Given the description of an element on the screen output the (x, y) to click on. 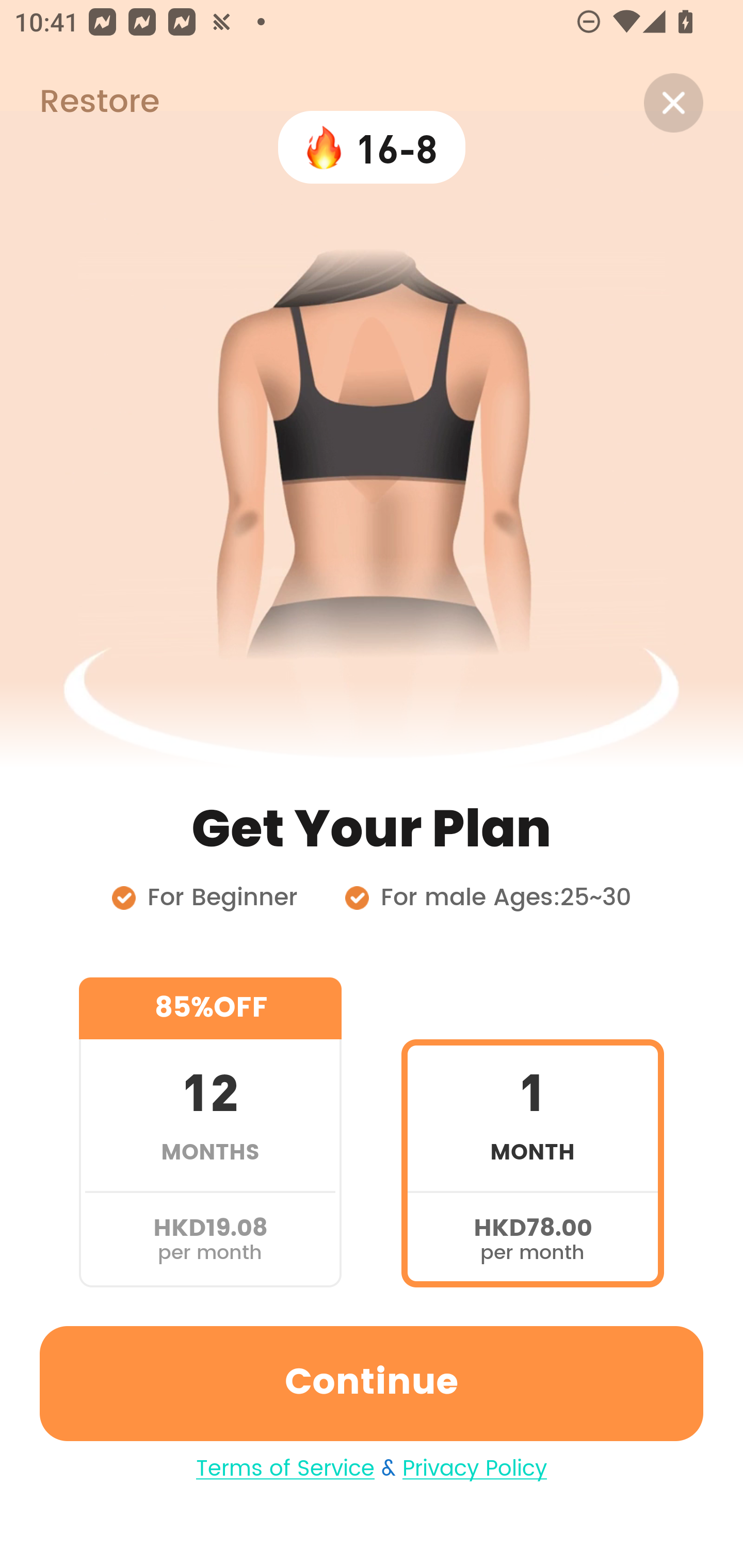
Restore (79, 102)
85%OFF 12 MONTHS per month HKD19.08 (209, 1131)
1 MONTH per month HKD78.00 (532, 1131)
Continue (371, 1383)
